Given the description of an element on the screen output the (x, y) to click on. 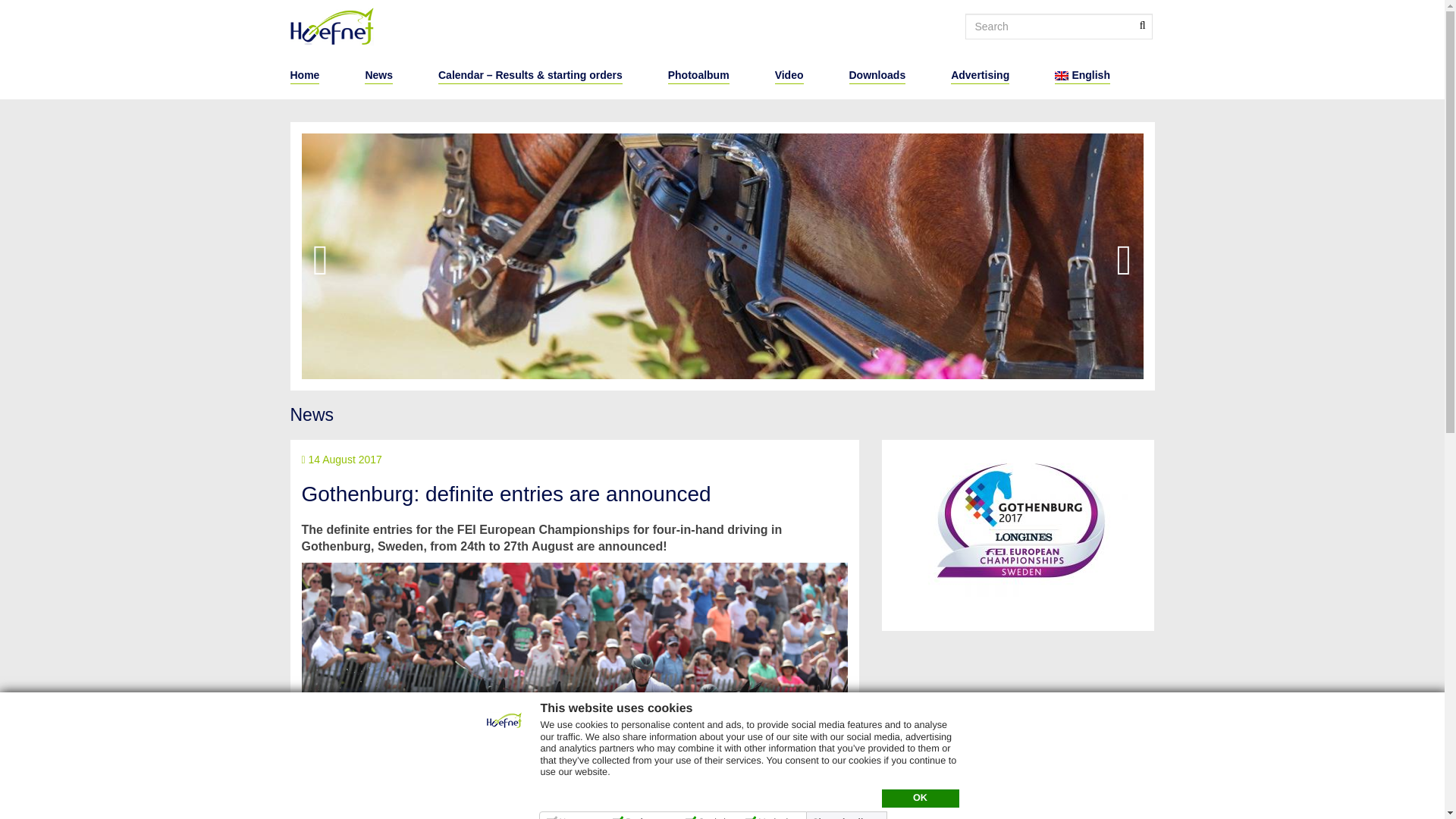
Show details (847, 817)
OK (919, 798)
